Given the description of an element on the screen output the (x, y) to click on. 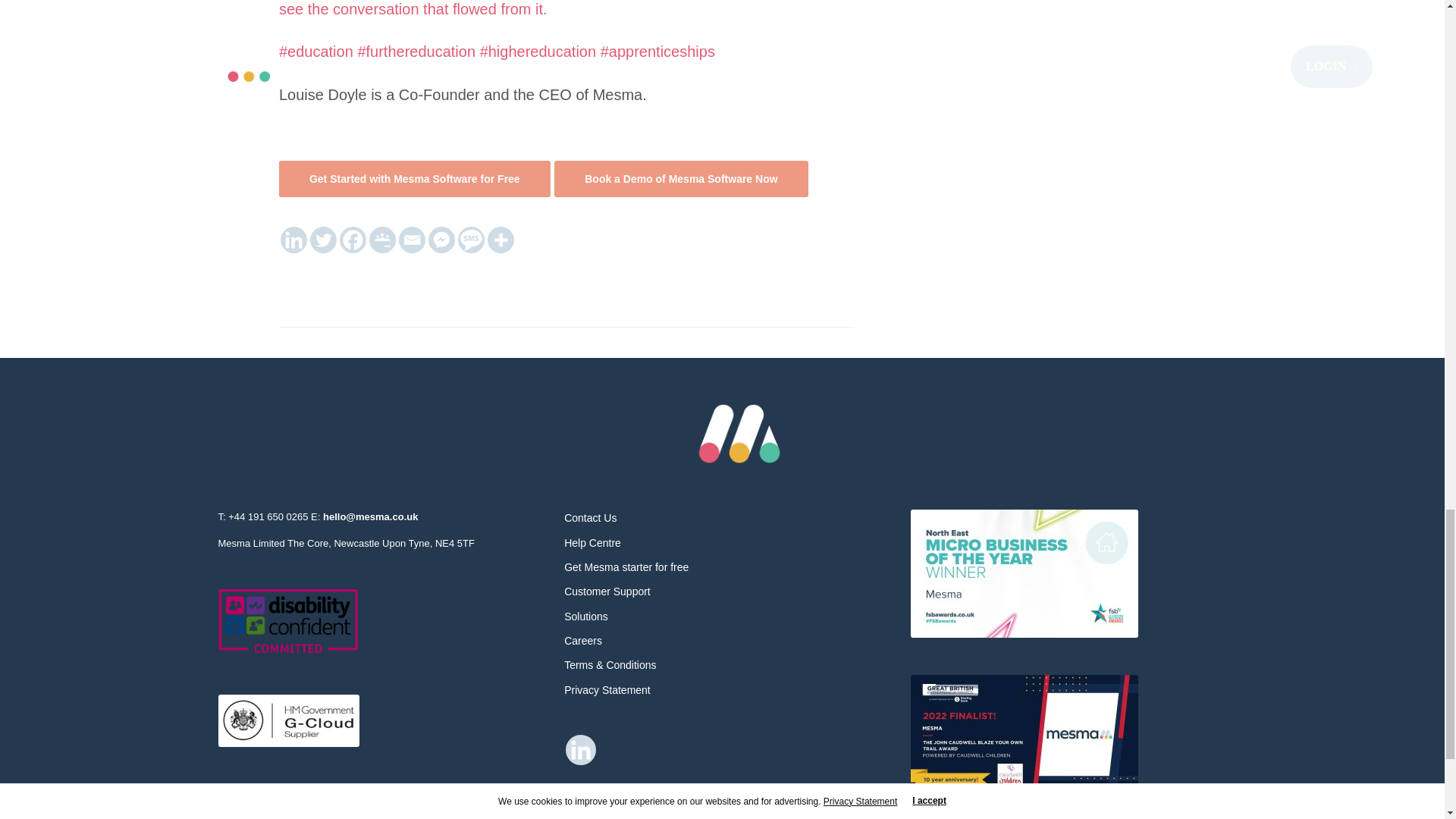
Email (411, 239)
Twitter (323, 239)
Facebook (352, 239)
SMS (471, 239)
Linkedin (294, 239)
Google Classroom (382, 239)
Linkedin (580, 749)
More (500, 239)
Mesma Quality Assurance Software and Advisory Support (739, 433)
